Given the description of an element on the screen output the (x, y) to click on. 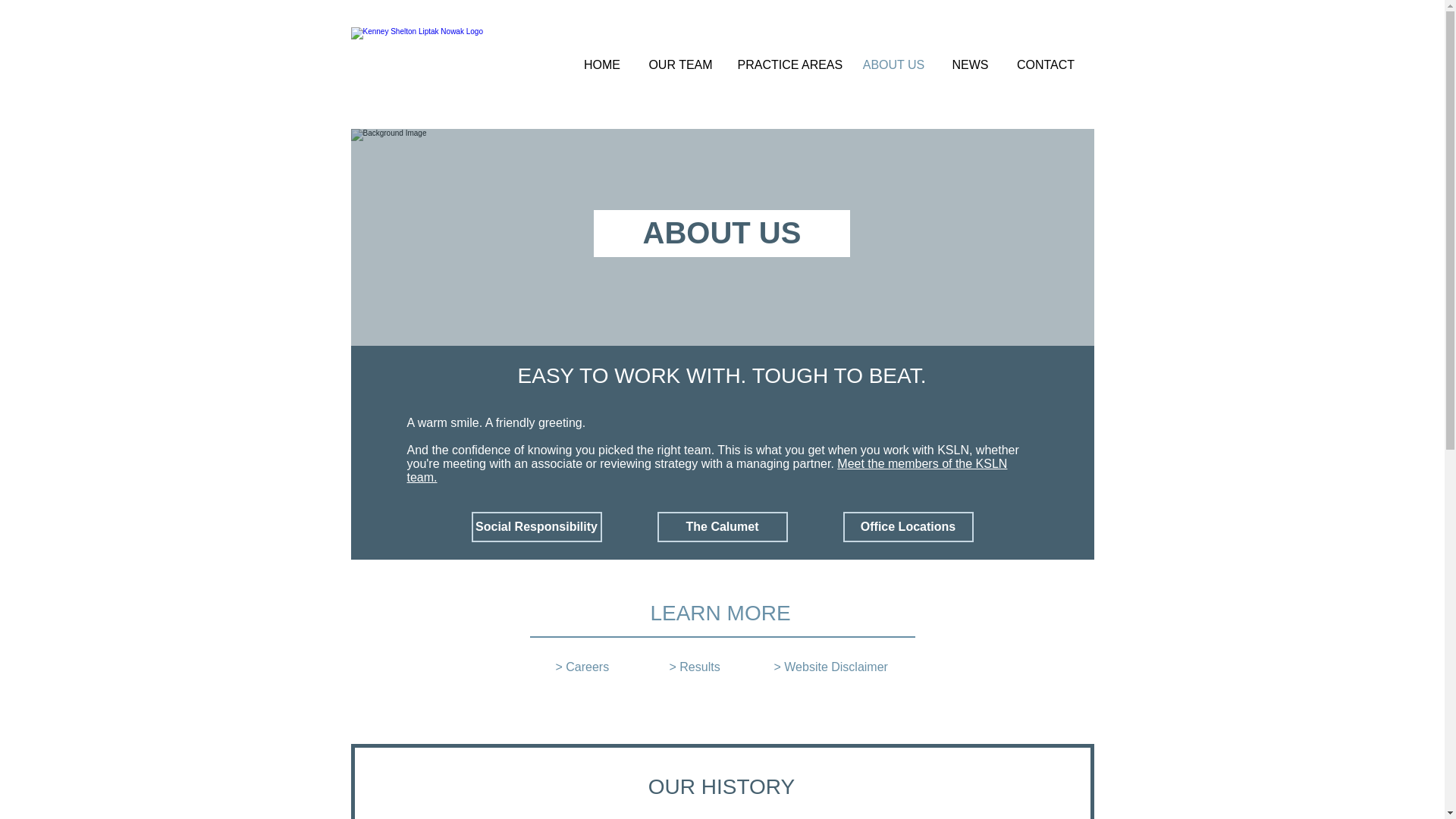
CONTACT (1045, 64)
ABOUT US (892, 64)
Meet the members of the KSLN team. (706, 470)
Social Responsibility (536, 526)
HOME (601, 64)
The Calumet (721, 526)
PRACTICE AREAS (788, 64)
NEWS (970, 64)
Office Locations (908, 526)
OUR TEAM (680, 64)
KLSN Logo.jpg (459, 51)
